Given the description of an element on the screen output the (x, y) to click on. 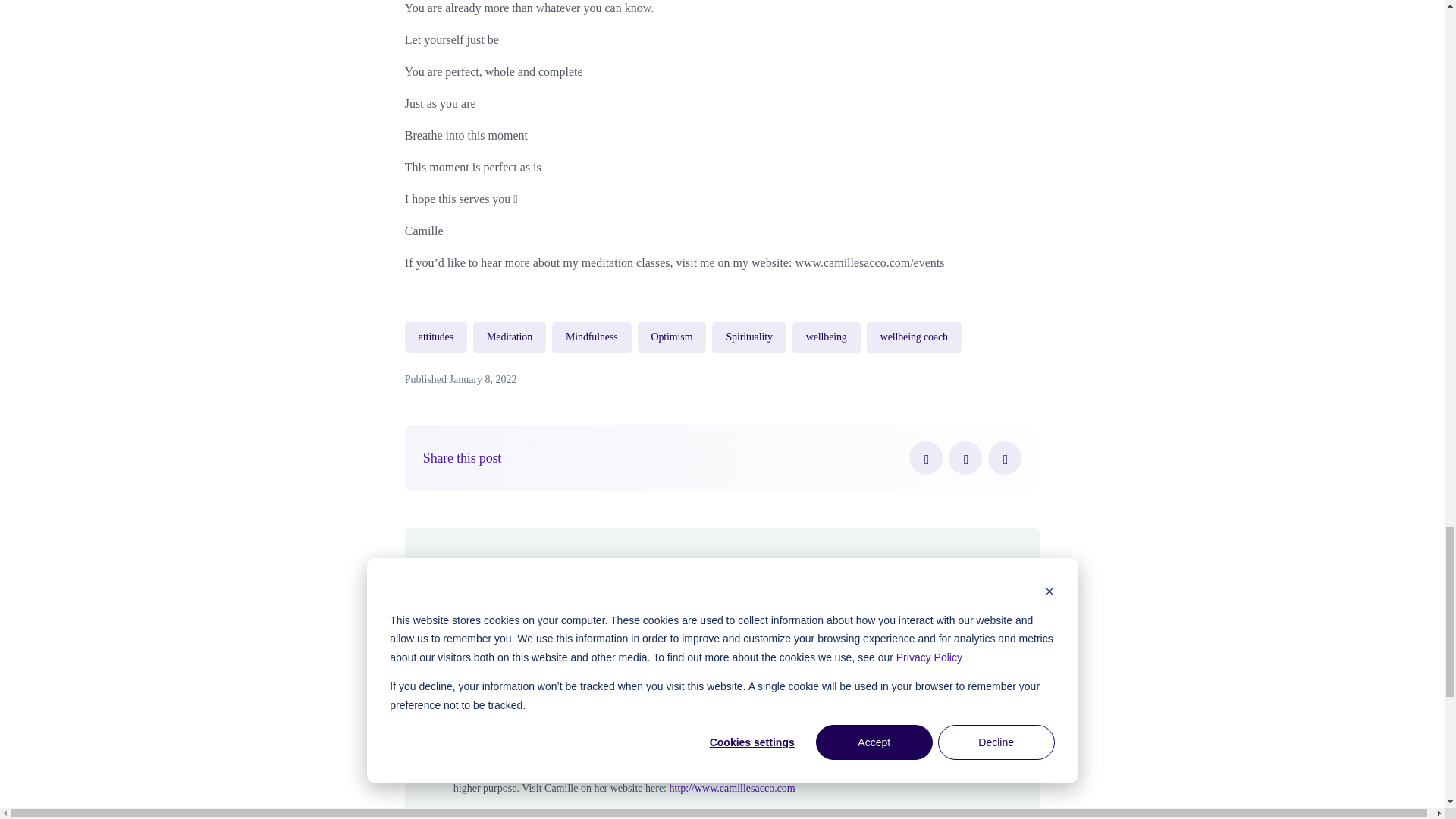
Camille Sacco (549, 587)
Facebook (925, 458)
LinkedIn (1005, 458)
Twitter (965, 458)
